Given the description of an element on the screen output the (x, y) to click on. 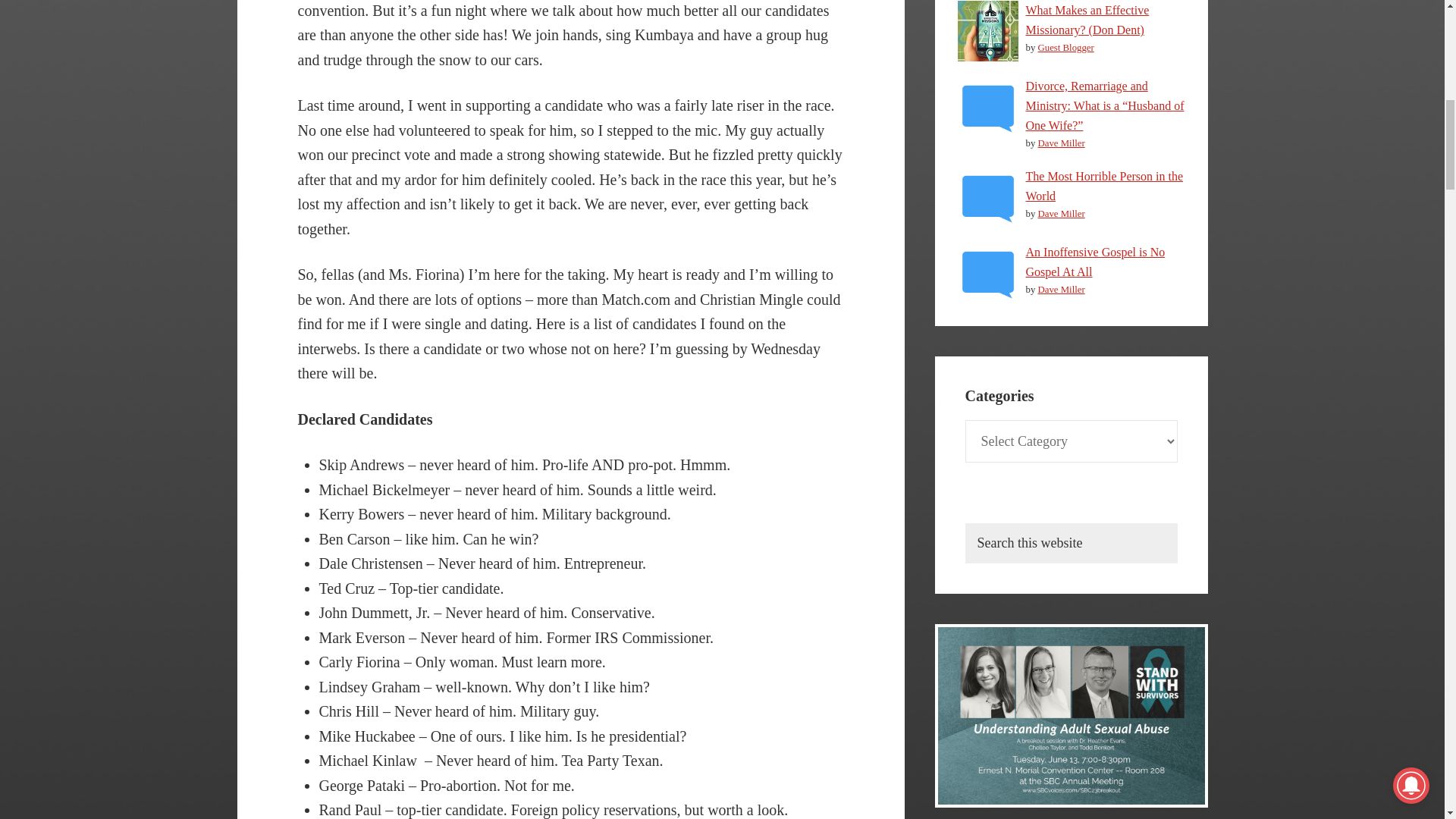
Dave Miller (1060, 213)
The Most Horrible Person in the World (1103, 185)
Dave Miller (1060, 143)
Guest Blogger (1064, 47)
